Given the description of an element on the screen output the (x, y) to click on. 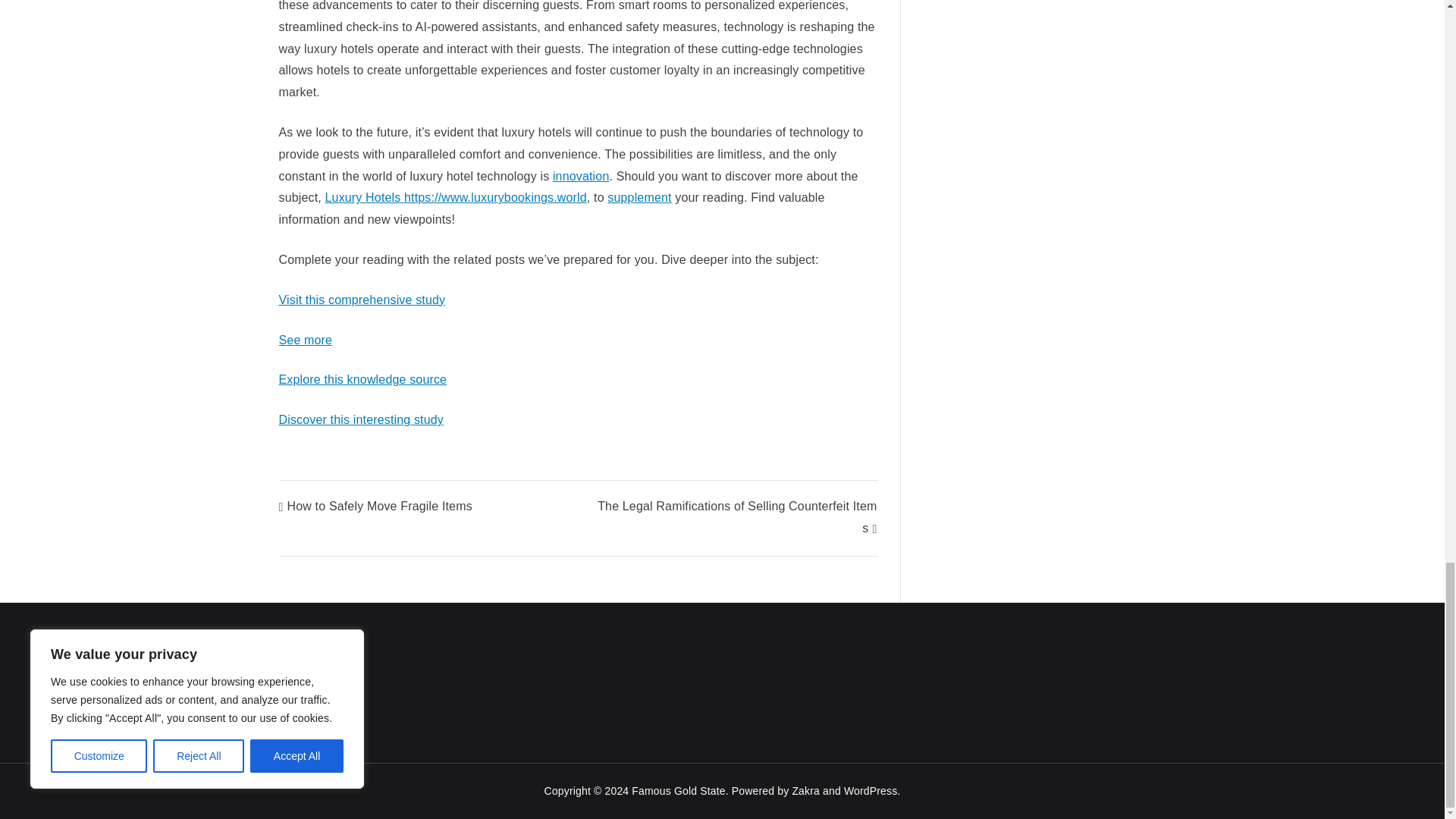
Visit this comprehensive study (362, 299)
How to Safely Move Fragile Items (375, 505)
WordPress (870, 790)
See more (306, 339)
Explore this knowledge source (362, 379)
The Legal Ramifications of Selling Counterfeit Items (736, 516)
Discover this interesting study (361, 419)
Famous Gold State (678, 790)
Zakra (805, 790)
supplement (639, 196)
innovation (581, 175)
